Given the description of an element on the screen output the (x, y) to click on. 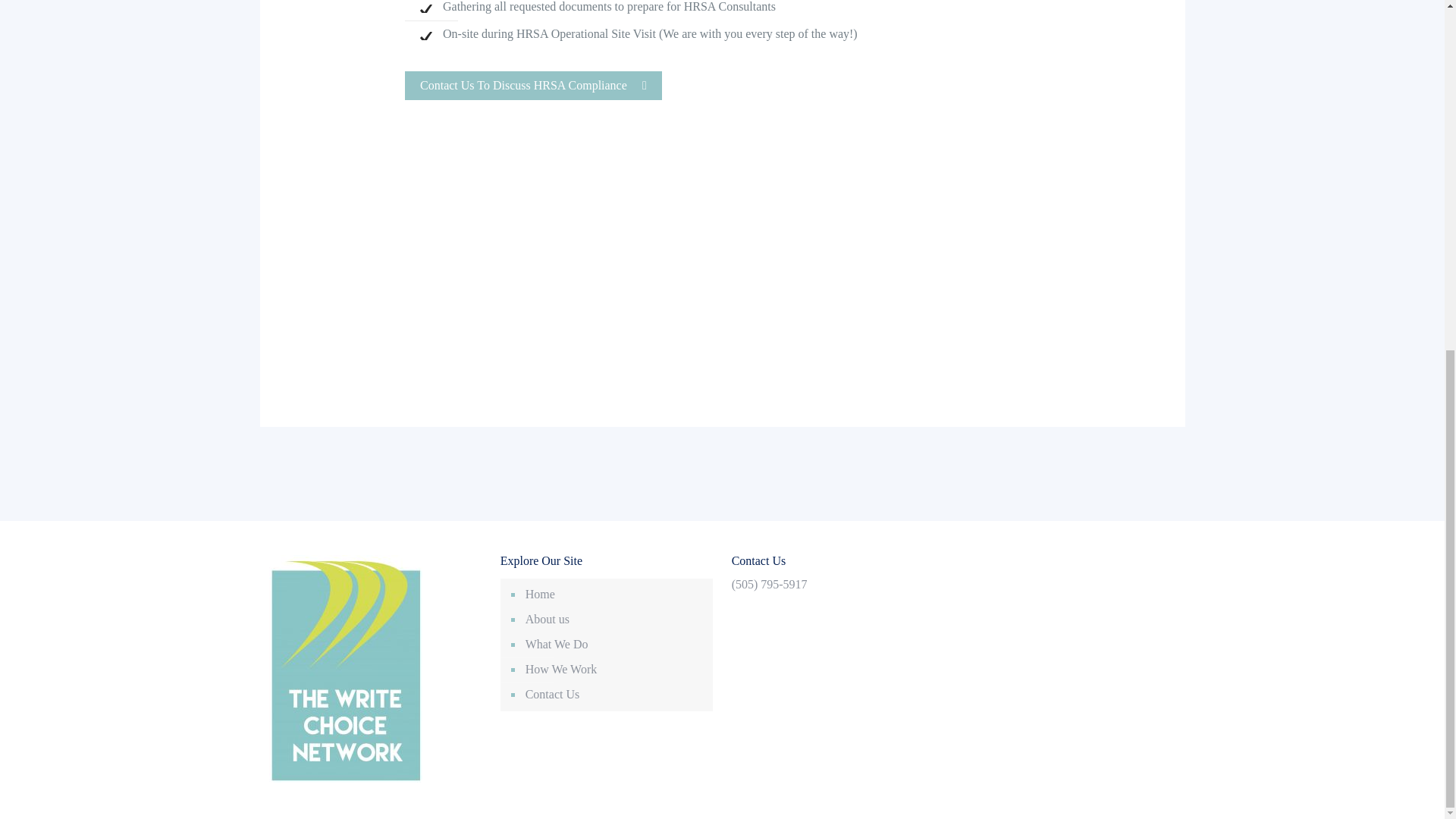
Contact Us (614, 86)
What We Do (614, 36)
About us (614, 12)
How We Work (614, 61)
Contact Us To Discuss HRSA Compliance (533, 85)
